Given the description of an element on the screen output the (x, y) to click on. 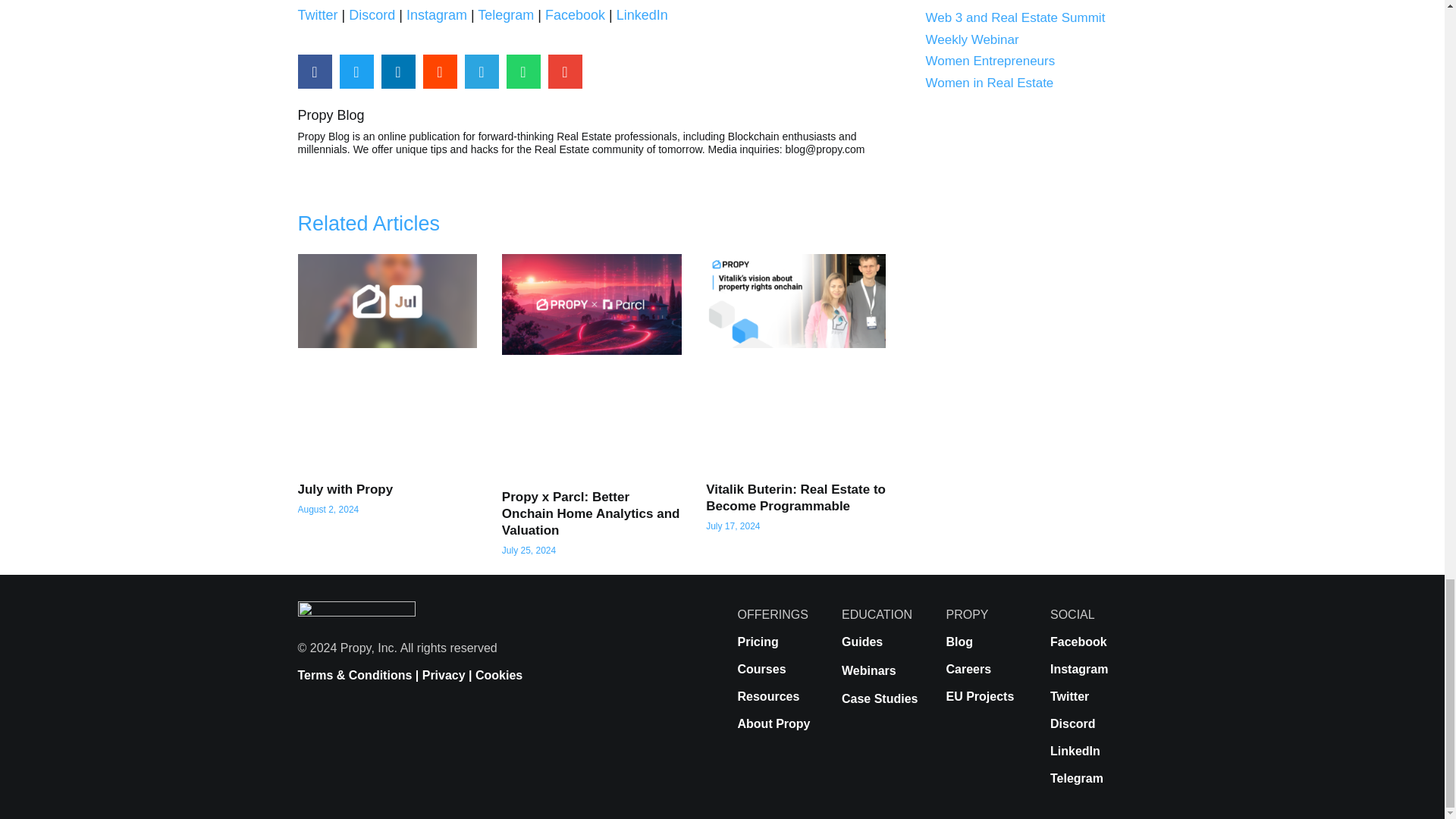
Facebook (574, 14)
Propy Blog (591, 115)
Propy x Parcl: Better Onchain Home Analytics and Valuation (590, 513)
Instagram (436, 14)
Telegram (505, 14)
Twitter (317, 14)
LinkedIn (641, 14)
Discord (371, 14)
July with Propy (345, 489)
